Given the description of an element on the screen output the (x, y) to click on. 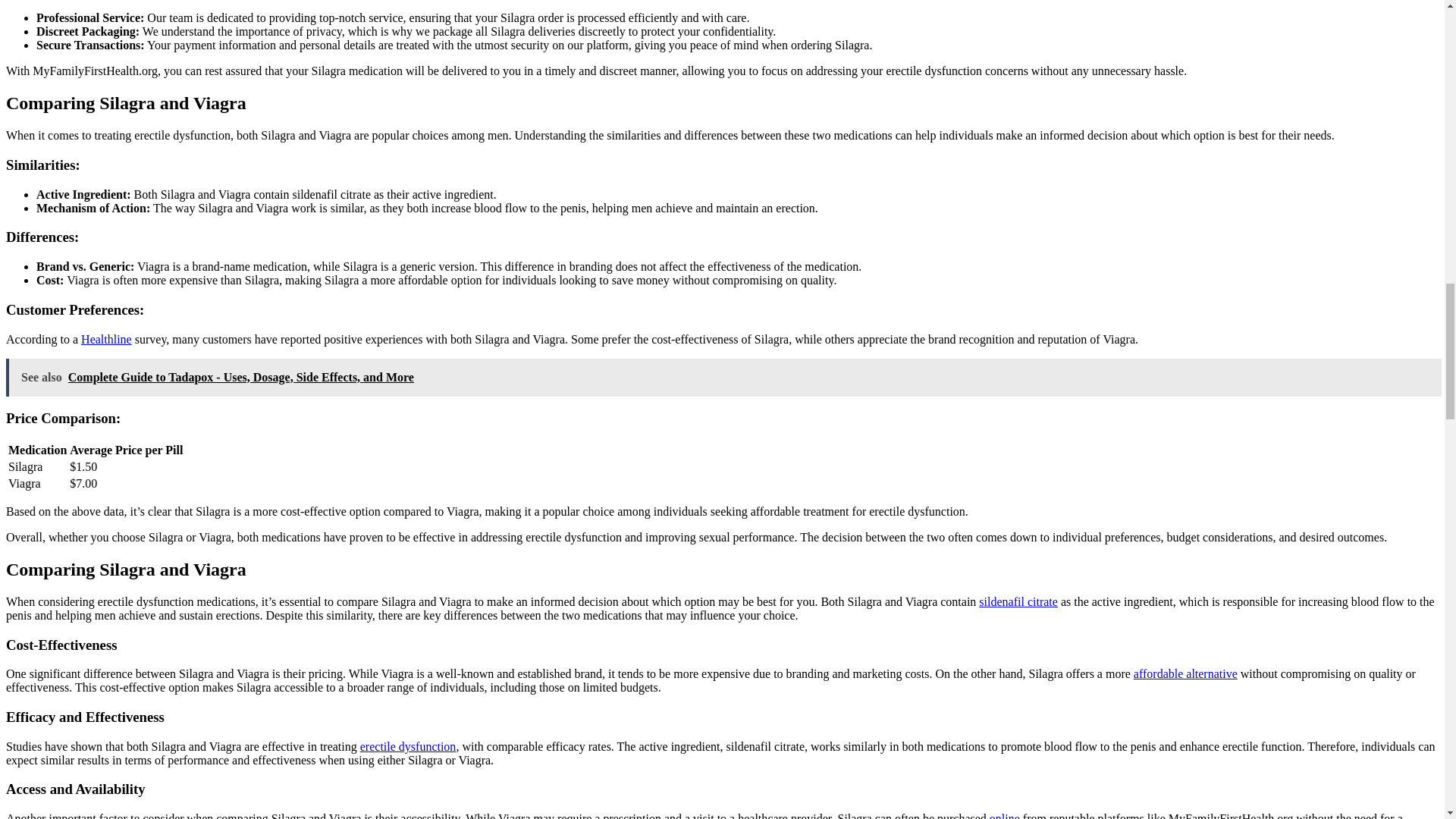
affordable alternative (1185, 673)
online (1005, 815)
erectile dysfunction (408, 746)
sildenafil citrate (1018, 601)
Healthline (106, 338)
